Given the description of an element on the screen output the (x, y) to click on. 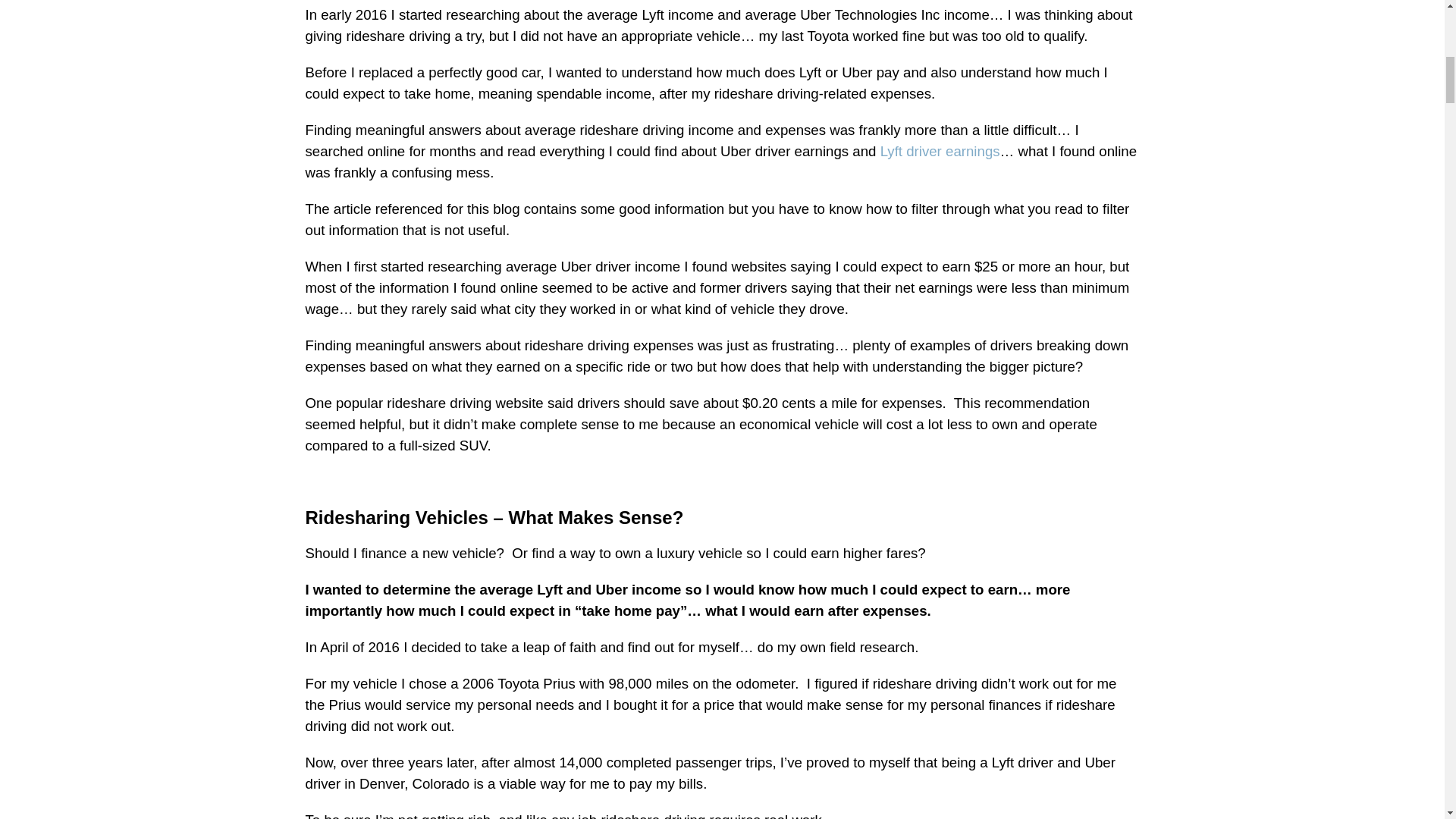
Lyft driver earnings (940, 150)
